Given the description of an element on the screen output the (x, y) to click on. 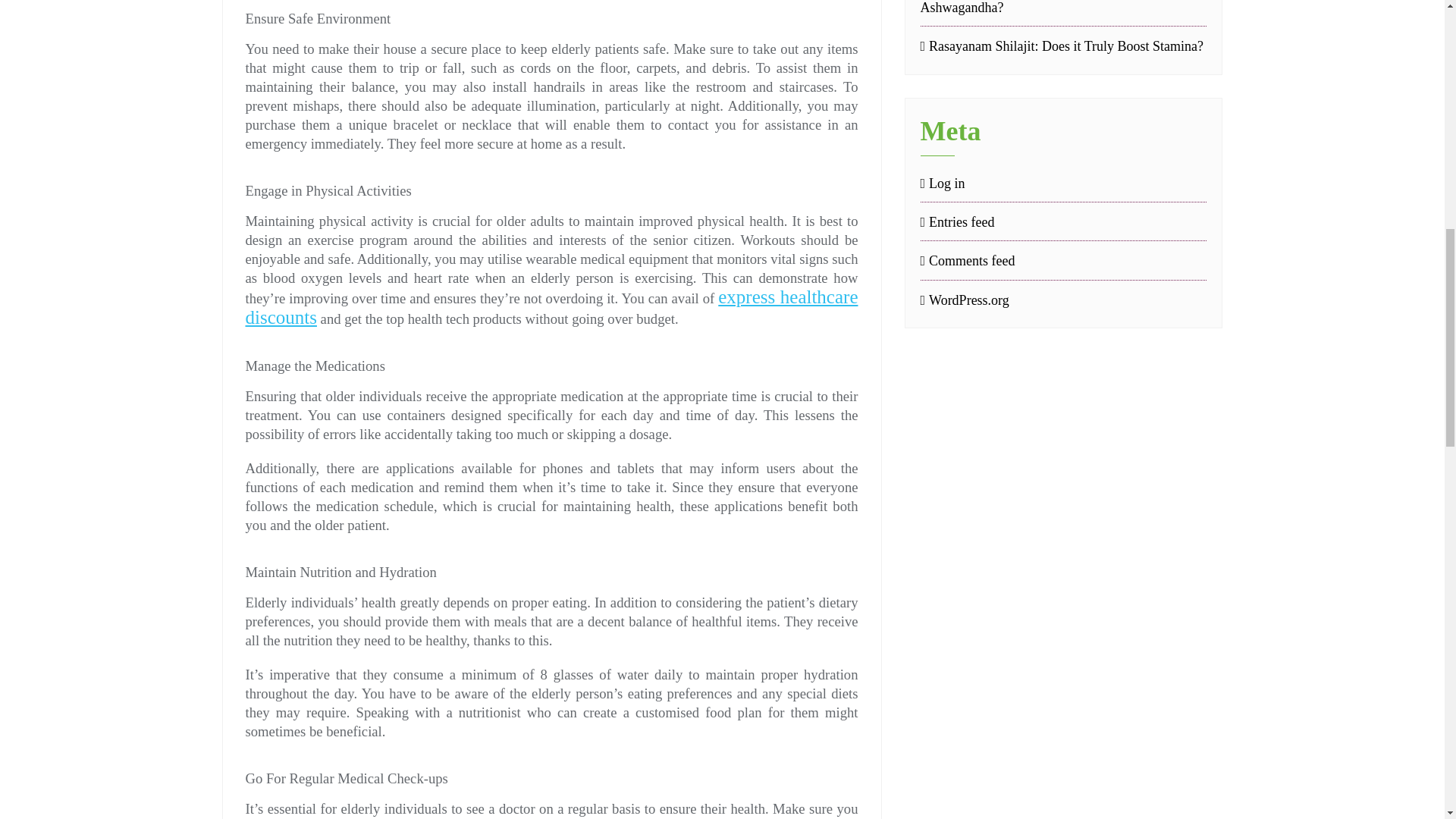
Rasayanam Shilajit: Does it Truly Boost Stamina? (1063, 46)
express healthcare discounts (552, 306)
Which one is Better Between Shilajit and Ashwagandha? (1063, 9)
